Given the description of an element on the screen output the (x, y) to click on. 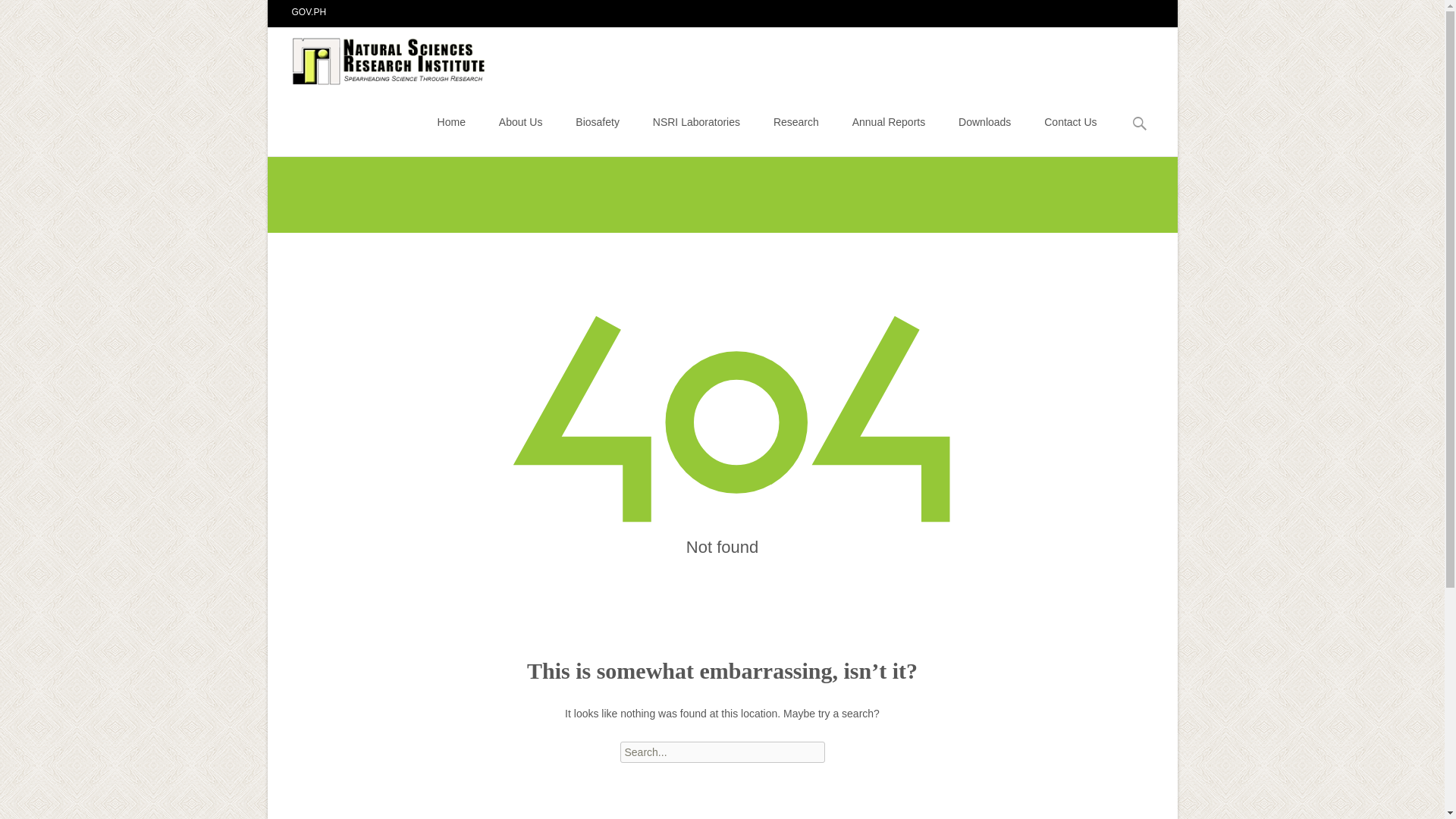
Search (18, 14)
Natural Sciences Research Institute (378, 57)
NSRI Laboratories (695, 121)
Search for: (1139, 123)
GOV.PH (308, 11)
Annual Reports (888, 121)
Search (34, 14)
Search for: (722, 752)
